Given the description of an element on the screen output the (x, y) to click on. 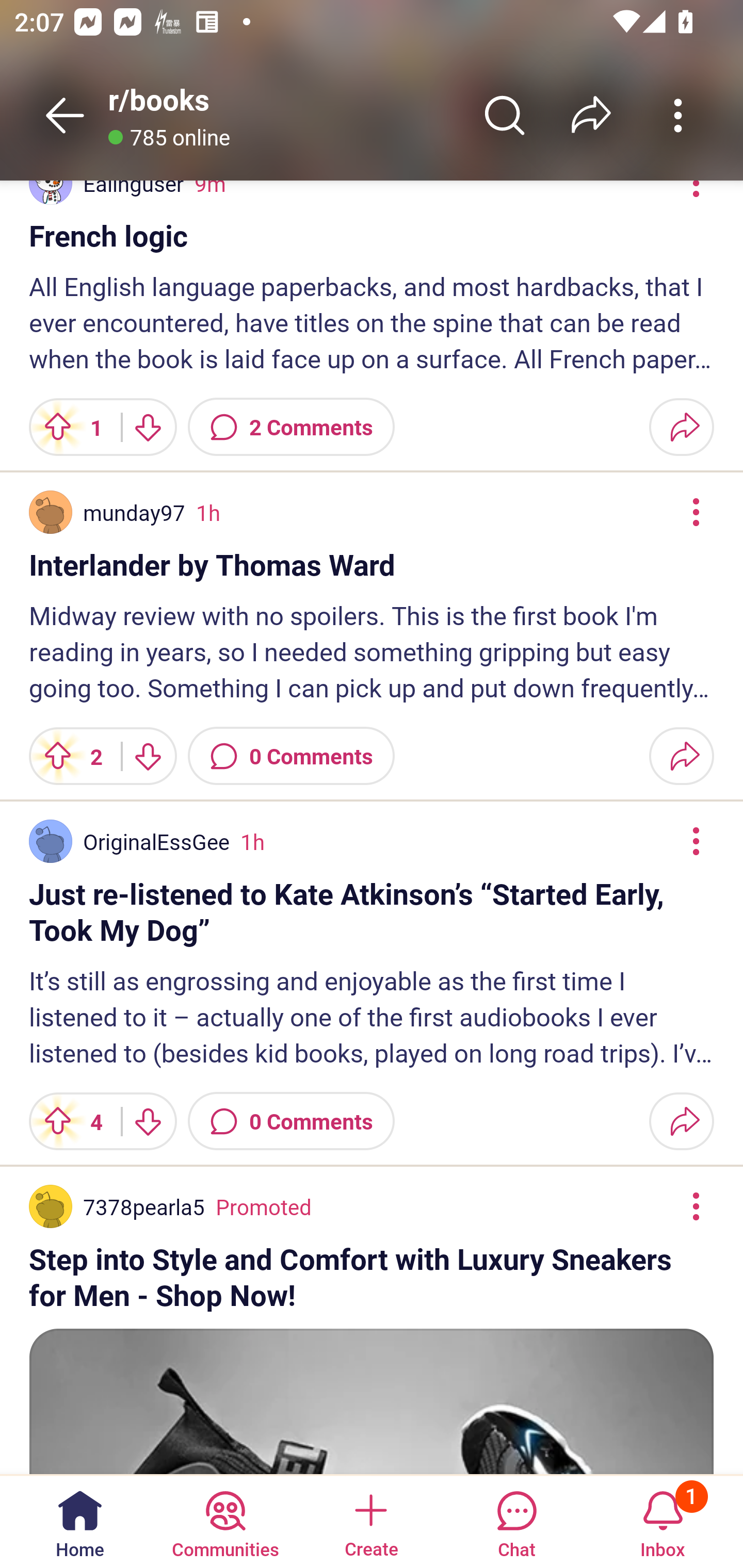
Back (64, 115)
Search r/﻿books (504, 115)
Share r/﻿books (591, 115)
More community actions (677, 115)
Home (80, 1520)
Communities (225, 1520)
Create a post Create (370, 1520)
Chat (516, 1520)
Inbox, has 1 notification 1 Inbox (662, 1520)
